Given the description of an element on the screen output the (x, y) to click on. 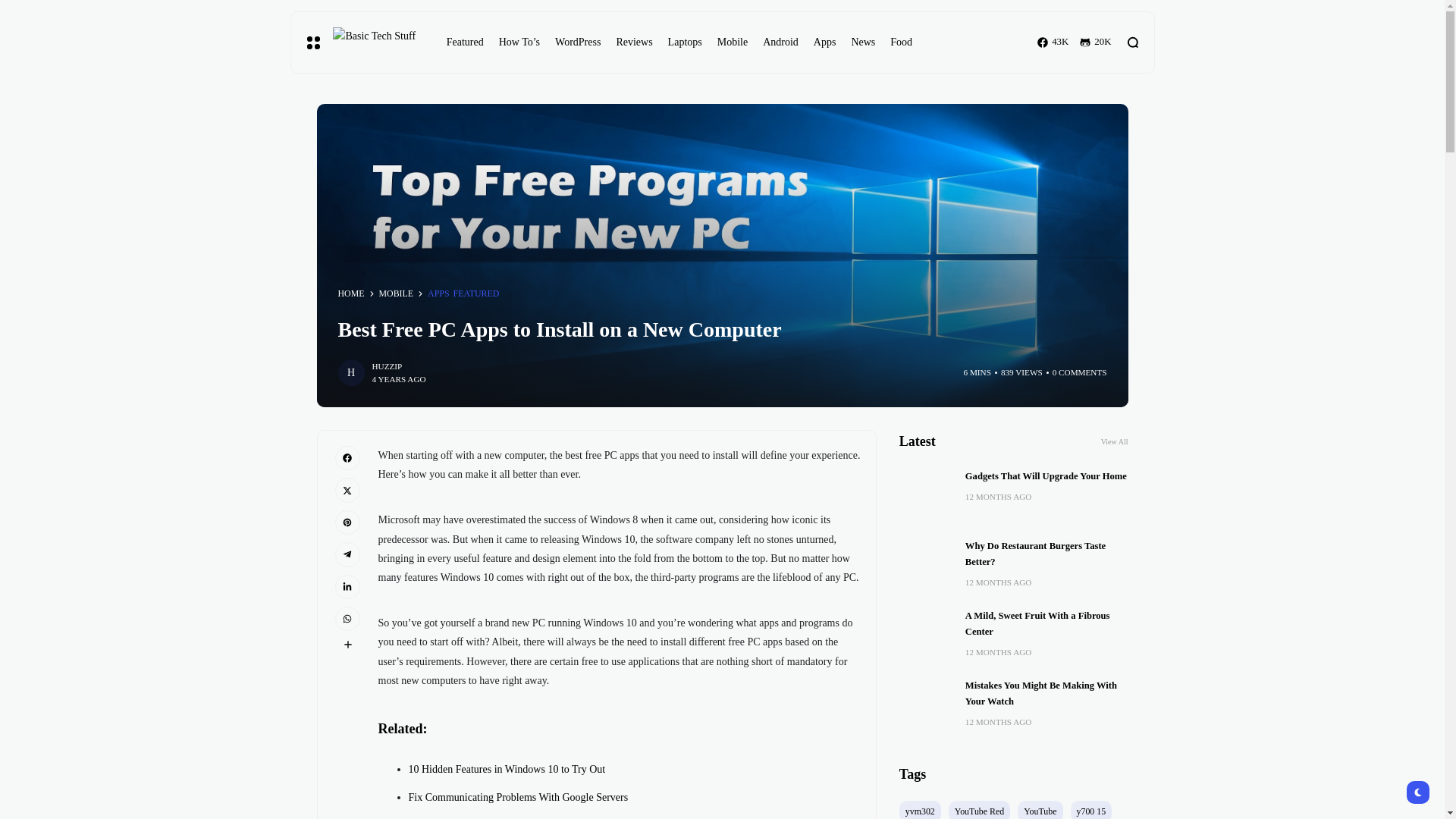
Fix Communicating Problems With Google Servers (517, 797)
APPS (438, 294)
20K (1095, 42)
HOME (351, 294)
MOBILE (395, 294)
839 VIEWS (1021, 372)
43K (1052, 42)
Basic Tech Stuff (376, 42)
Posts by Huzzip (386, 366)
HUZZIP (386, 366)
